Given the description of an element on the screen output the (x, y) to click on. 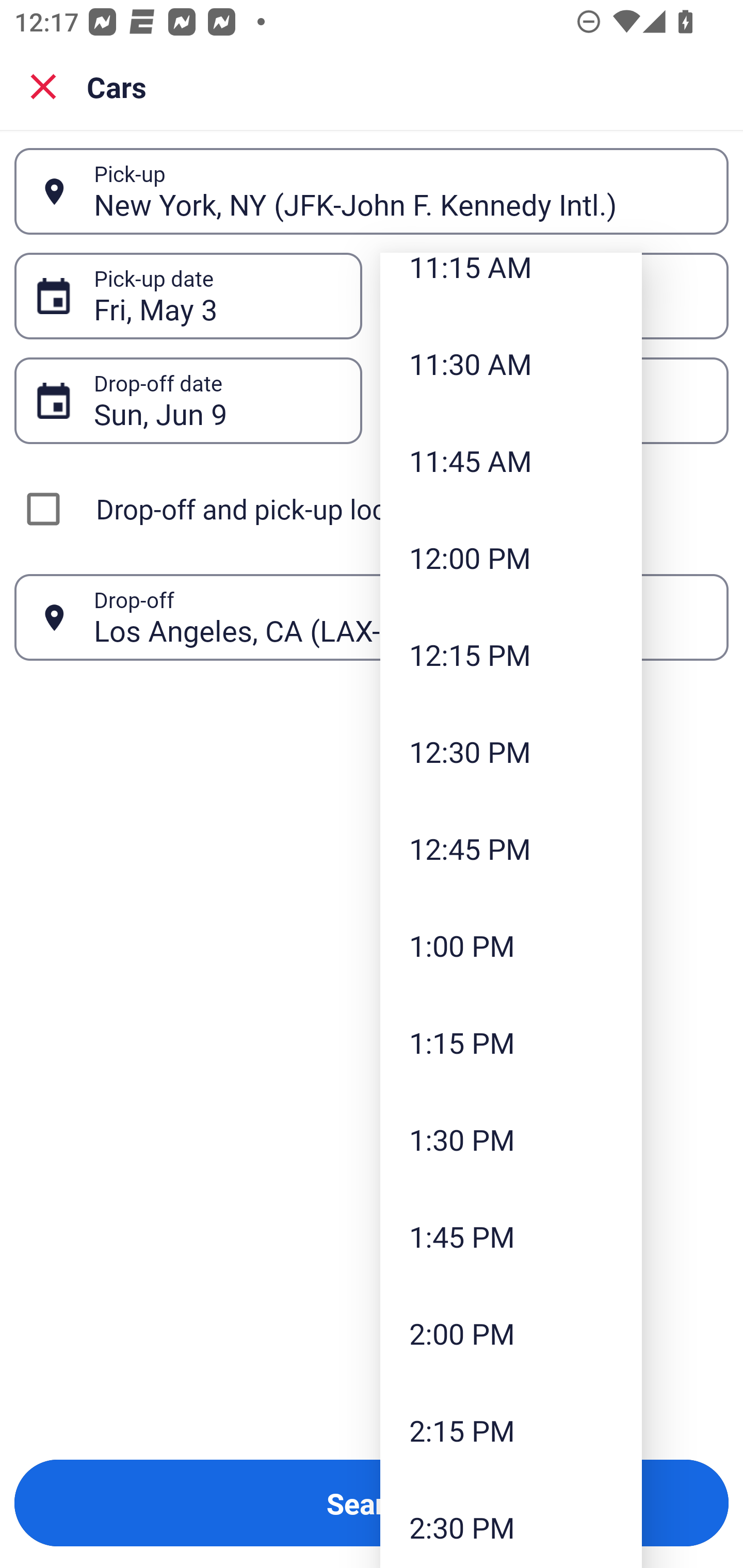
11:15 AM (510, 283)
11:30 AM (510, 363)
11:45 AM (510, 460)
12:00 PM (510, 557)
12:15 PM (510, 654)
12:30 PM (510, 750)
12:45 PM (510, 847)
1:00 PM (510, 945)
1:15 PM (510, 1042)
1:30 PM (510, 1139)
1:45 PM (510, 1236)
2:00 PM (510, 1332)
2:15 PM (510, 1429)
2:30 PM (510, 1523)
